Given the description of an element on the screen output the (x, y) to click on. 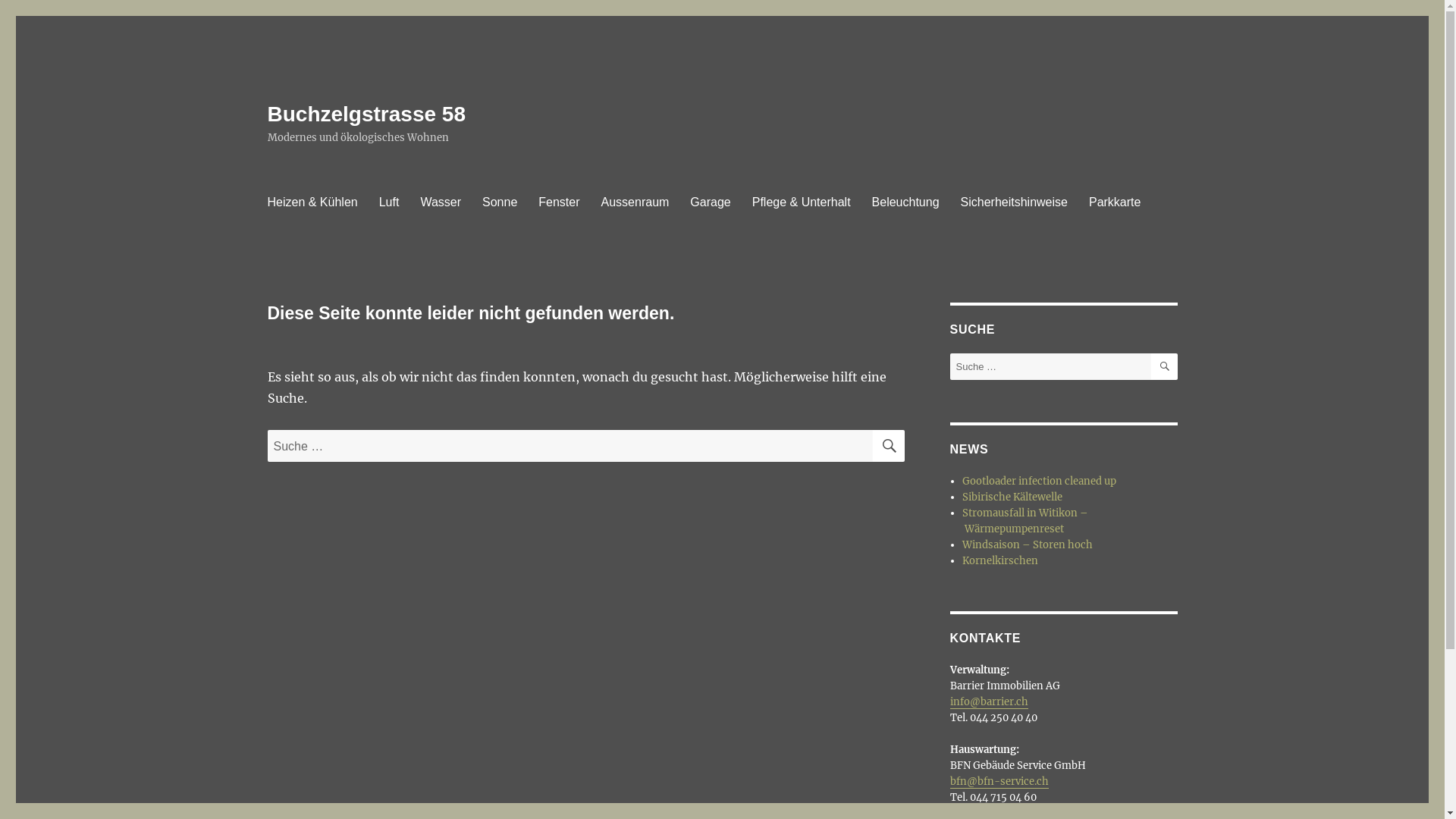
Gootloader infection cleaned up Element type: text (1039, 480)
Buchzelgstrasse 58 Element type: text (365, 113)
bfn@bfn-service.ch Element type: text (998, 781)
Kornelkirschen Element type: text (1000, 560)
info@barrier.ch Element type: text (988, 701)
SUCHE Element type: text (887, 445)
Fenster Element type: text (558, 201)
Pflege & Unterhalt Element type: text (801, 201)
Garage Element type: text (709, 201)
Luft Element type: text (389, 201)
Aussenraum Element type: text (635, 201)
Sicherheitshinweise Element type: text (1014, 201)
Beleuchtung Element type: text (905, 201)
Wasser Element type: text (440, 201)
Sonne Element type: text (499, 201)
Parkkarte Element type: text (1114, 201)
SUCHE Element type: text (1164, 366)
